Given the description of an element on the screen output the (x, y) to click on. 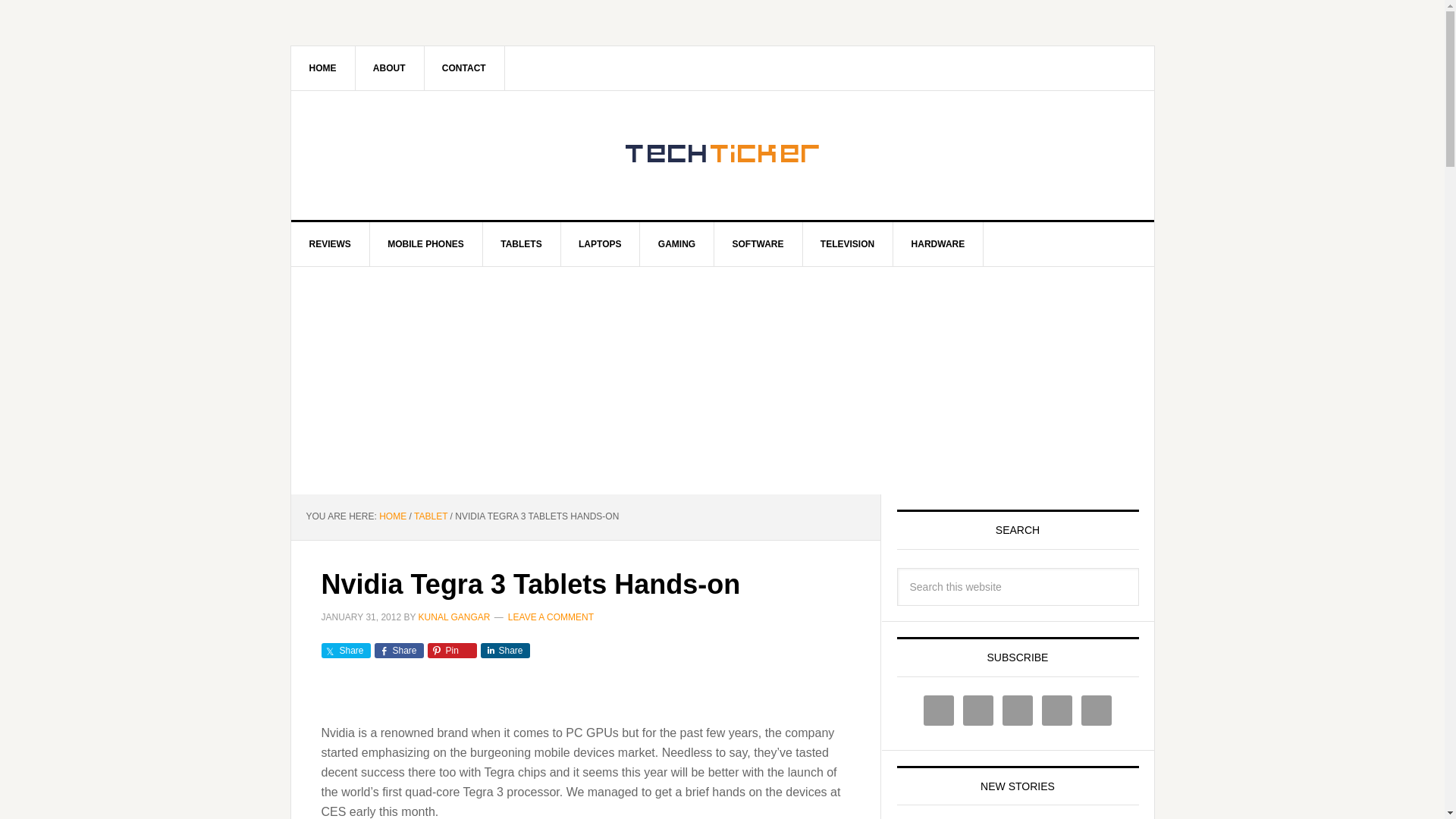
KUNAL GANGAR (454, 615)
LAPTOPS (600, 243)
ABOUT (390, 67)
HARDWARE (938, 243)
CONTACT (464, 67)
TELEVISION (847, 243)
TABLET (429, 516)
Pin (452, 650)
TABLETS (520, 243)
REVIEWS (330, 243)
Share (398, 650)
LEAVE A COMMENT (551, 615)
GAMING (677, 243)
Share (504, 650)
